Given the description of an element on the screen output the (x, y) to click on. 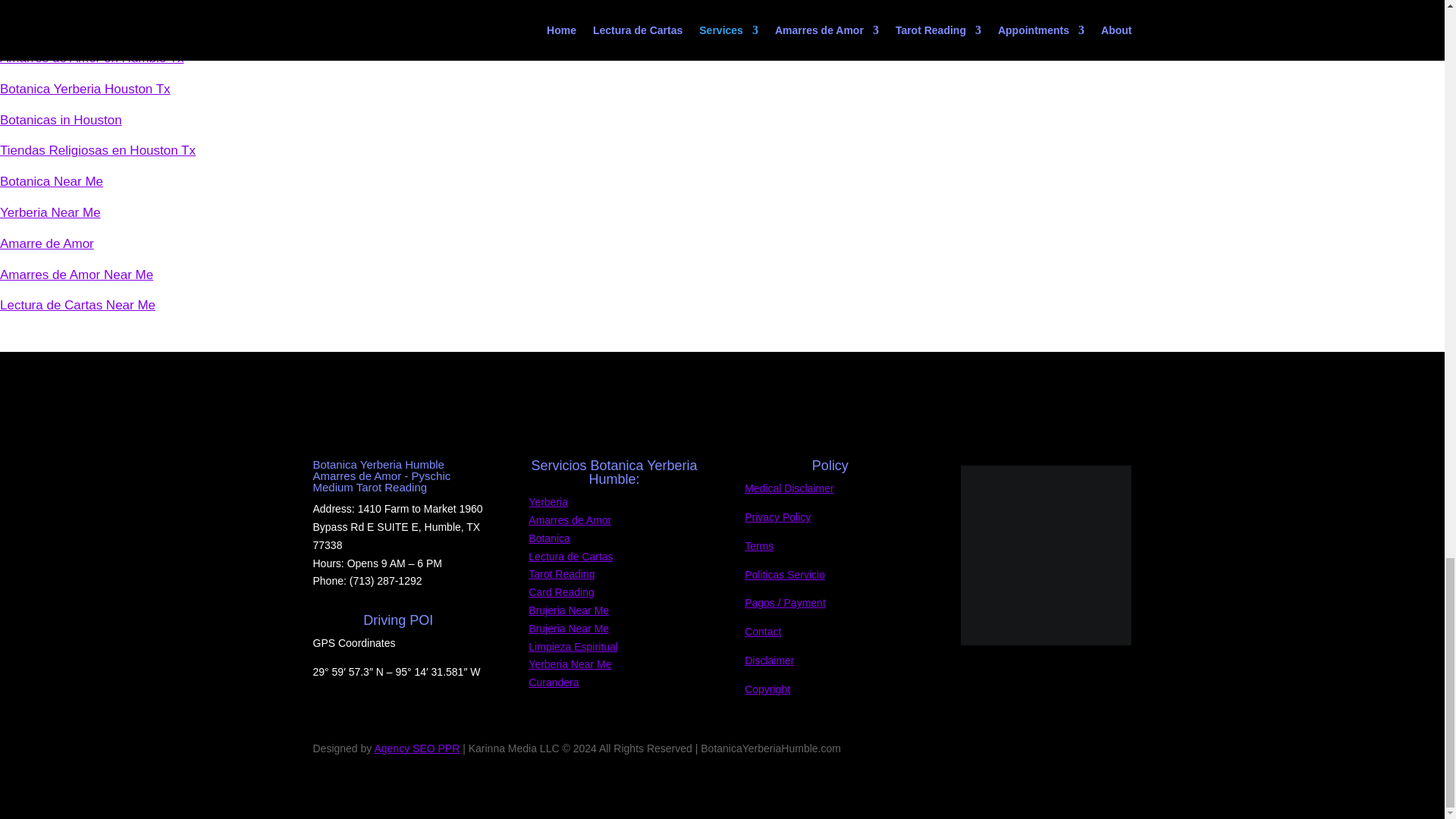
yerberias-near-me (1045, 555)
Botanica Yerberia Atascocita (81, 26)
Amarres de Amor en Humble Tx (92, 57)
